Given the description of an element on the screen output the (x, y) to click on. 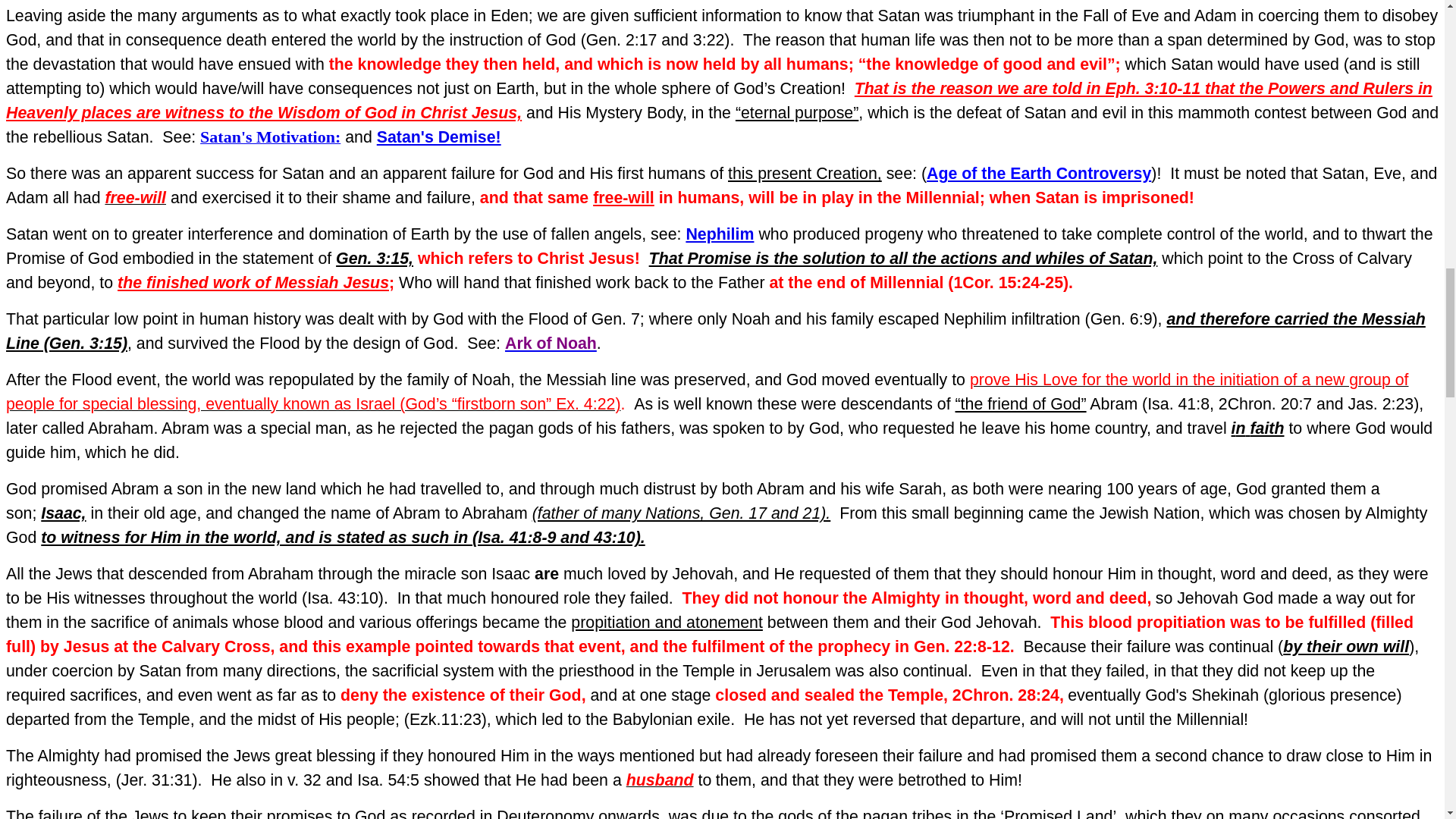
Satan Demise (438, 136)
Satan's Demise! (438, 136)
Age of the Earth Controversy (1038, 173)
Nephilim (719, 234)
Ark of Noah (550, 343)
Ark of Noah (550, 343)
Satan's Motivation: (270, 137)
